Given the description of an element on the screen output the (x, y) to click on. 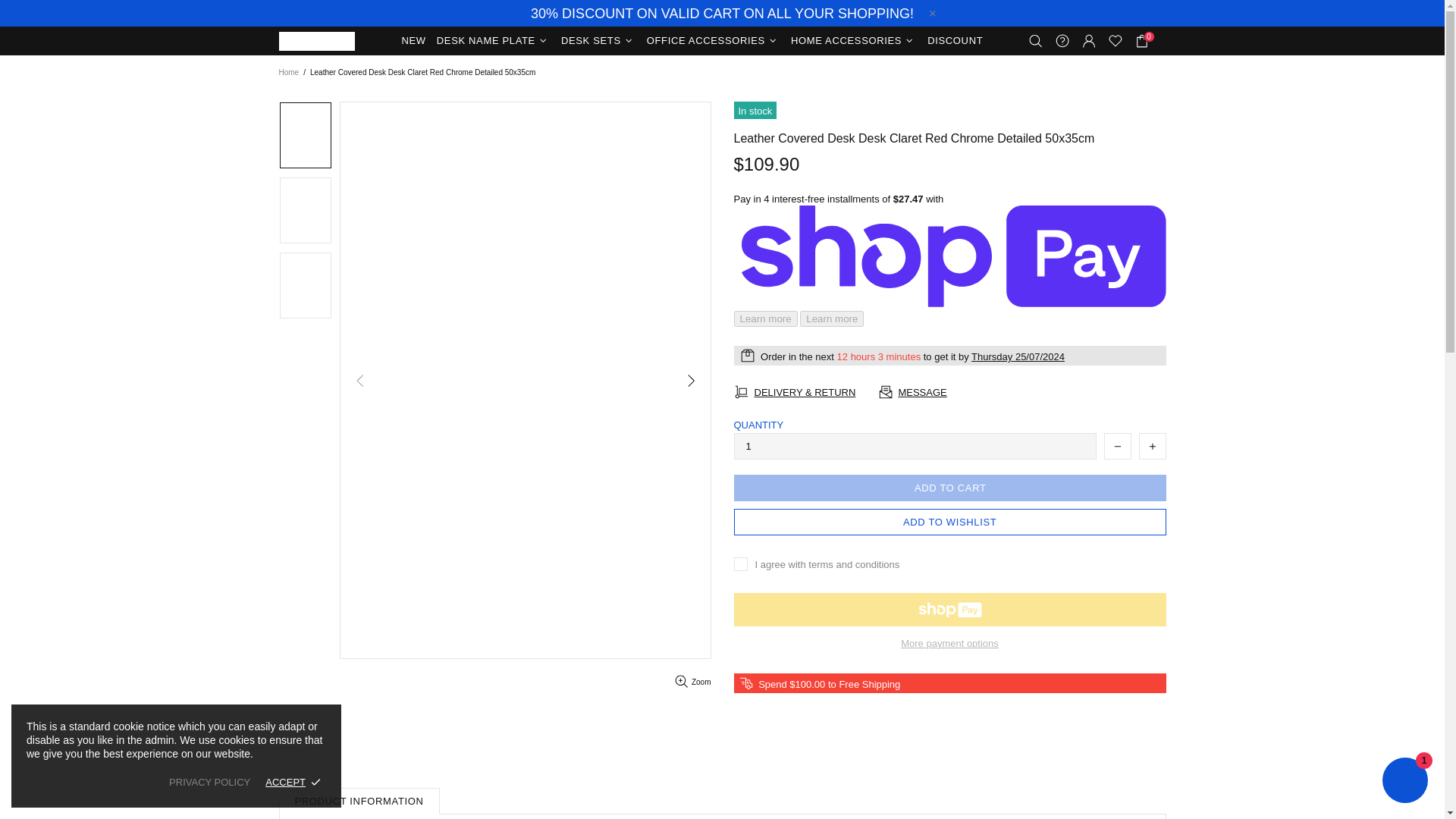
Lux Desk Sets (317, 40)
DESK NAME PLATE (493, 40)
HOME ACCESSORIES (853, 40)
OFFICE ACCESSORIES (714, 40)
1 (914, 446)
DESK SETS (599, 40)
NEW (413, 40)
Shopify online store chat (1404, 781)
